Given the description of an element on the screen output the (x, y) to click on. 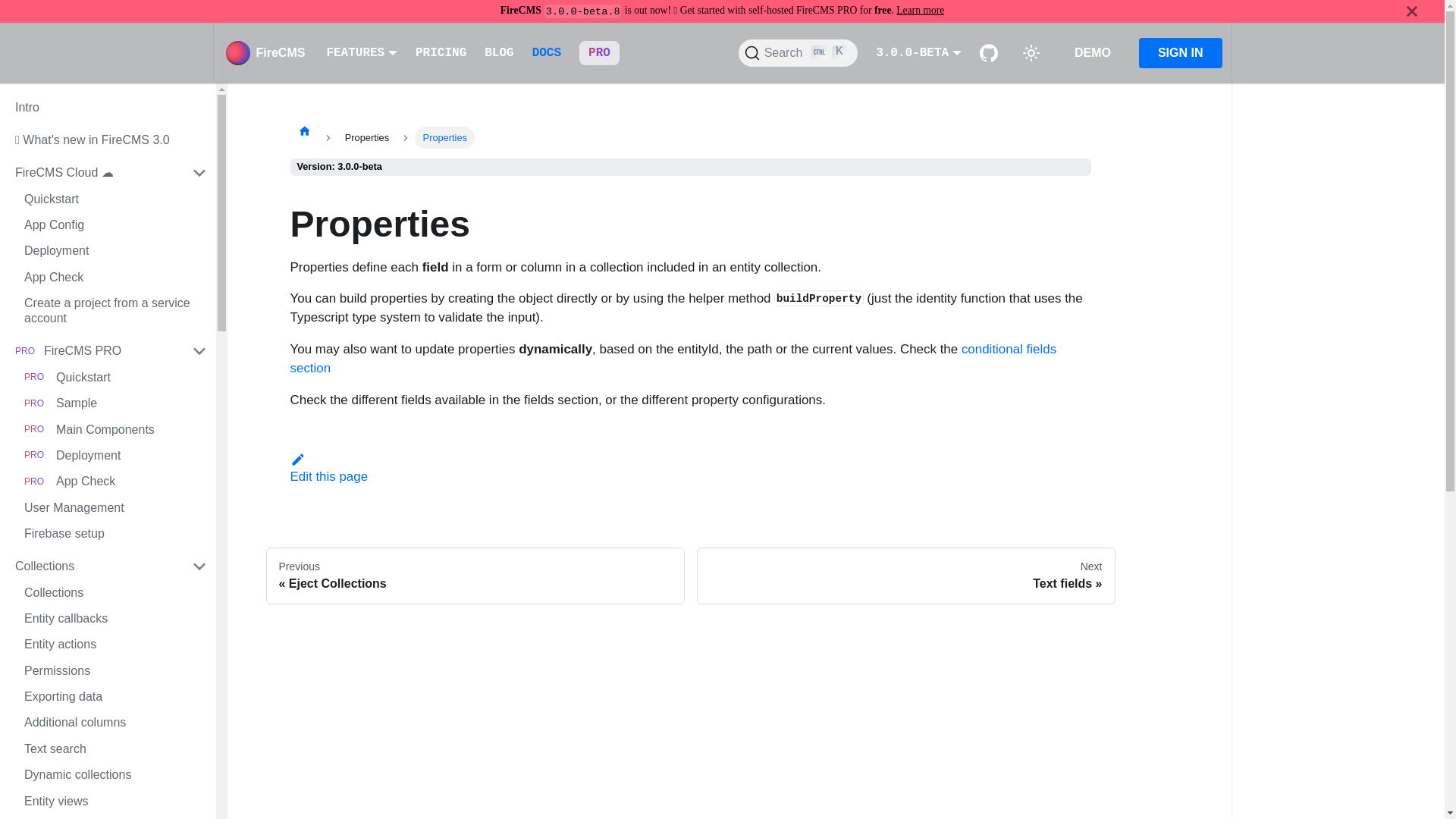
SIGN IN (1180, 52)
Deployment (114, 250)
3.0.0-BETA (918, 52)
Quickstart (114, 199)
DOCS (546, 52)
DEMO (1092, 52)
PRO (599, 52)
Collections (110, 566)
FireCMS (265, 52)
Create a project from a service account (114, 310)
FireCMS PRO (124, 350)
App Config (114, 224)
Sample (114, 403)
Learn more (919, 9)
App Check (114, 481)
